Given the description of an element on the screen output the (x, y) to click on. 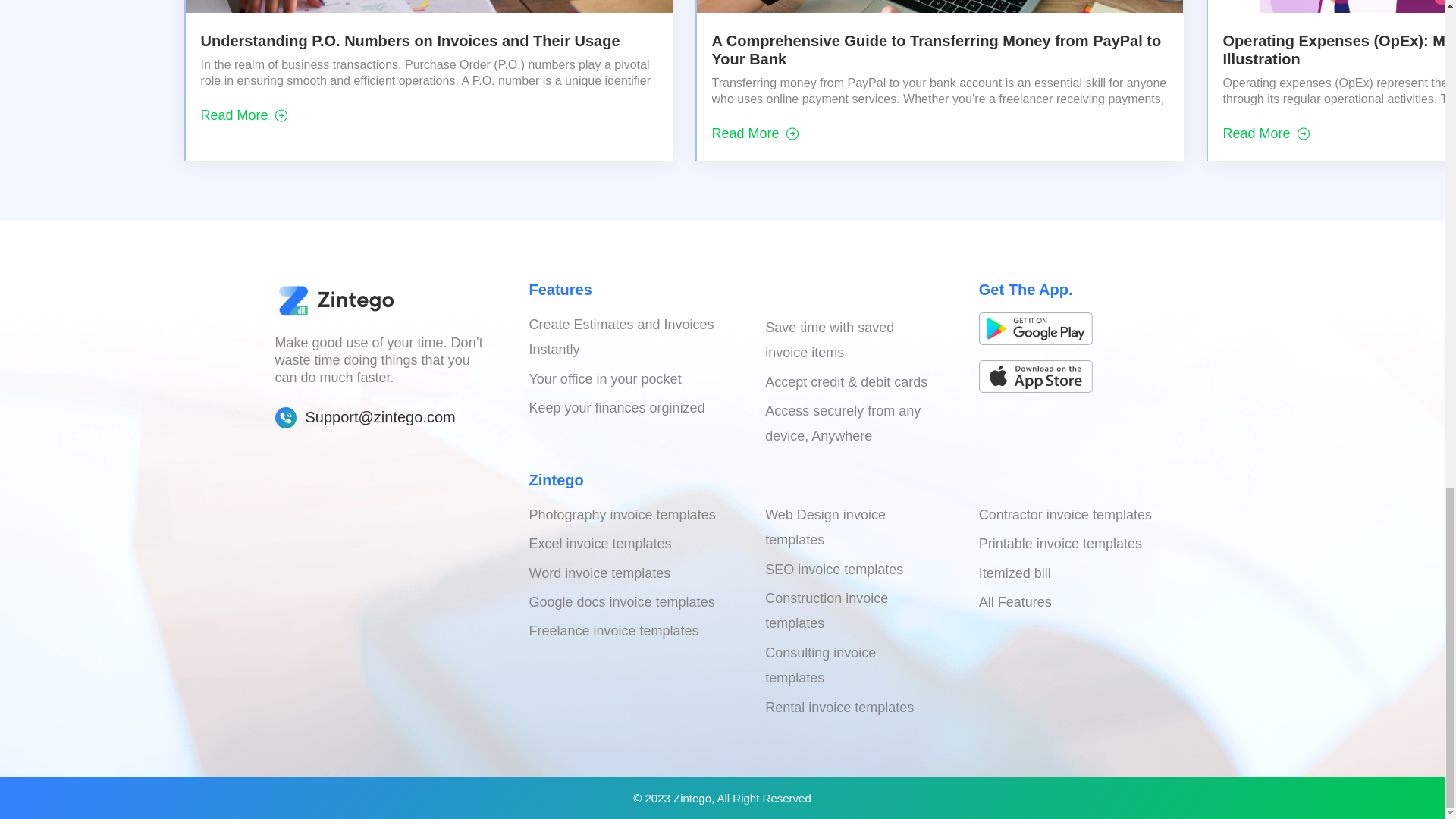
Read More (243, 116)
Understanding P.O. Numbers on Invoices and Their Usage (410, 40)
